Given the description of an element on the screen output the (x, y) to click on. 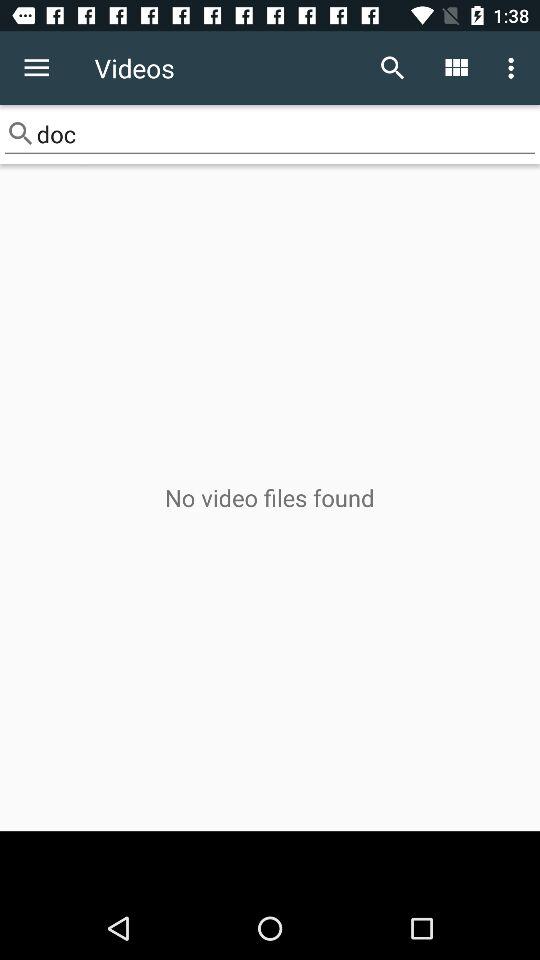
choose the icon above doc (455, 67)
